Given the description of an element on the screen output the (x, y) to click on. 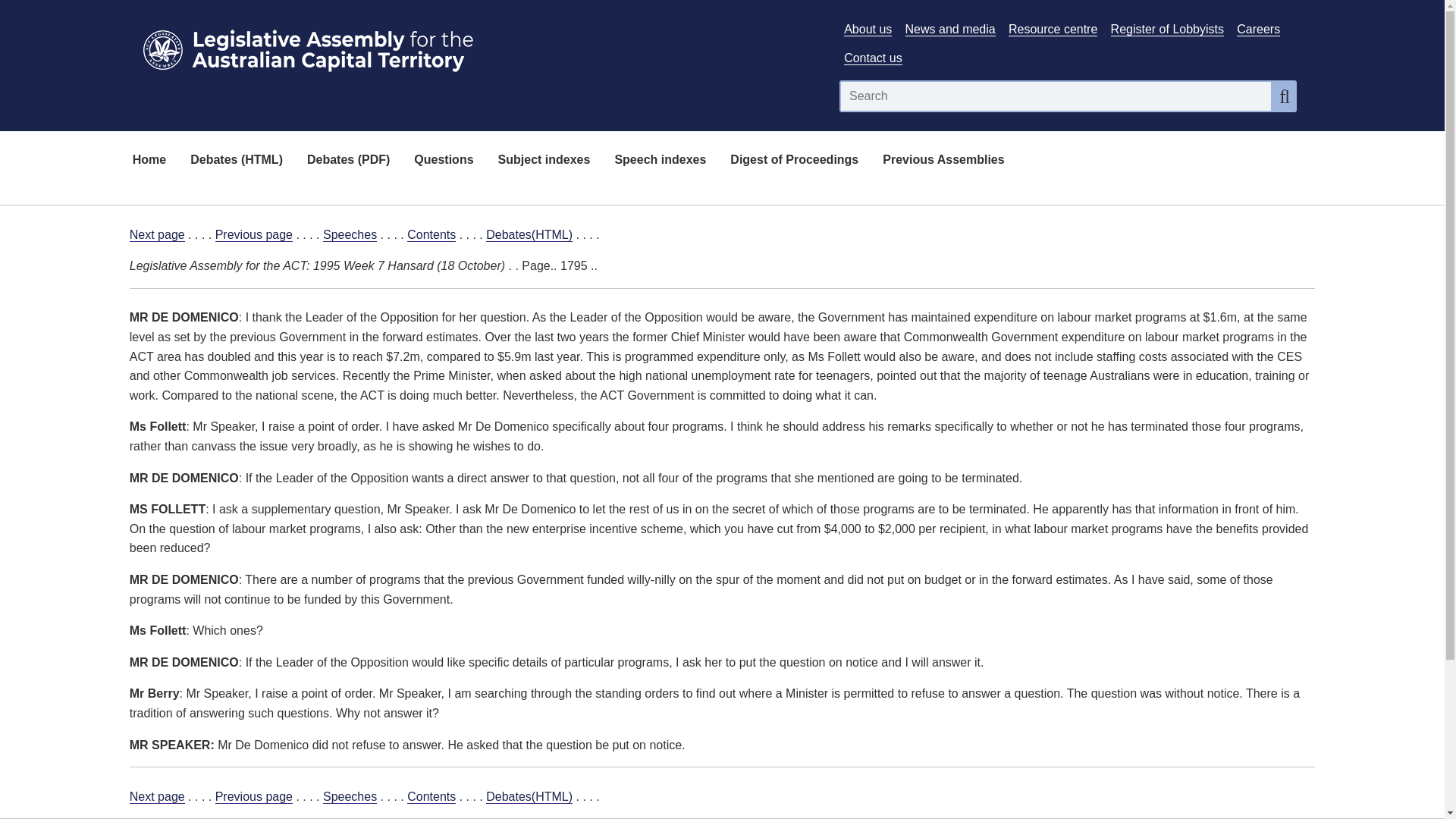
Next page (156, 796)
Questions (442, 160)
Link to Contact Us (872, 58)
Register of Lobbyists (1167, 29)
Resource centre (1053, 29)
Previous page (253, 234)
Search (1284, 96)
Home (148, 160)
Link to Resource centre (1053, 29)
Link to Register of Lobbyists (1167, 29)
Careers (1257, 29)
Link to About Us (867, 29)
Next page (156, 234)
News and media (950, 29)
Digest of Proceedings (793, 160)
